Given the description of an element on the screen output the (x, y) to click on. 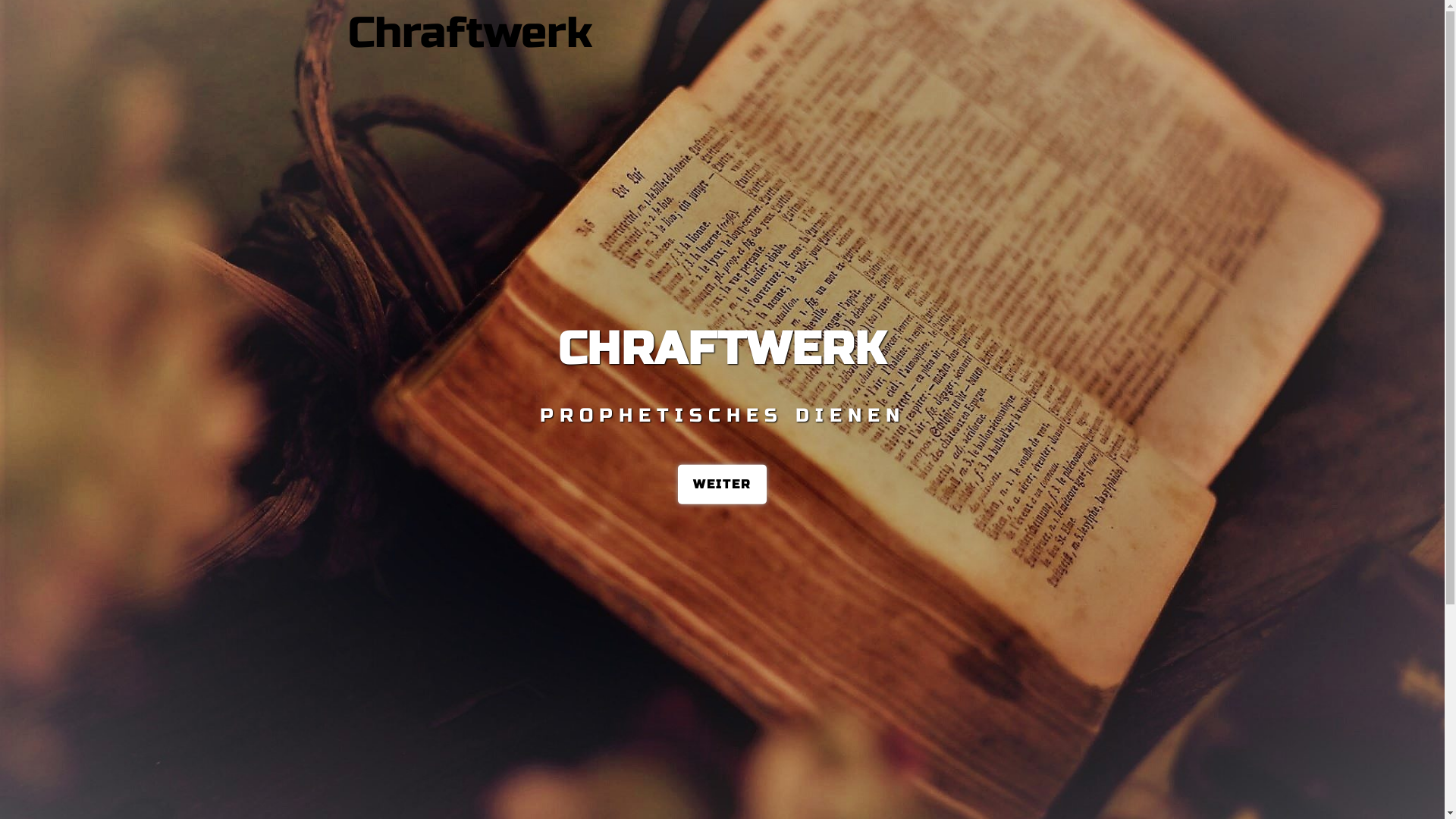
WEITER Element type: text (721, 483)
Chraftwerk Element type: text (470, 32)
